Given the description of an element on the screen output the (x, y) to click on. 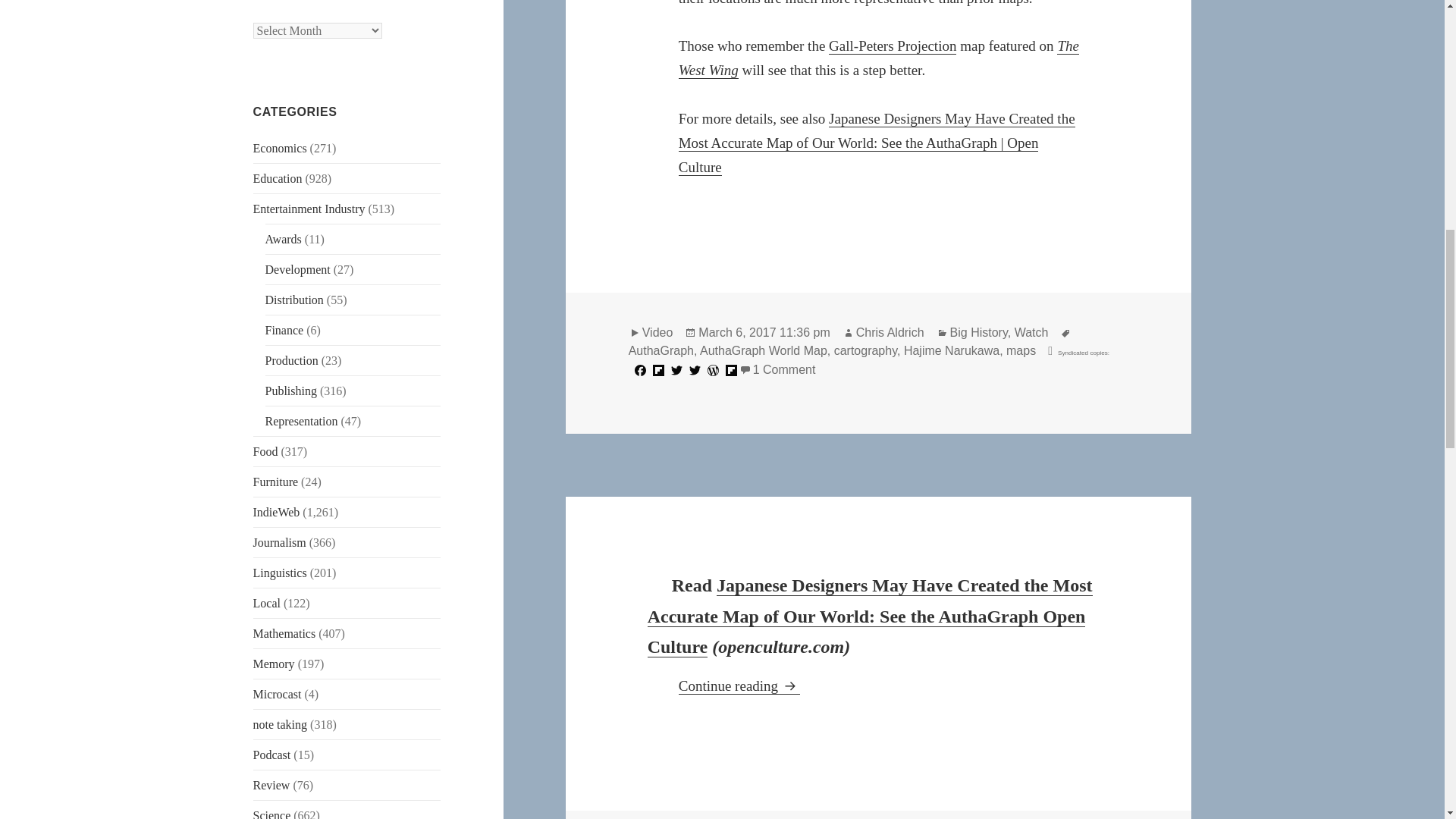
Facebook (640, 369)
WordPress (713, 369)
Flipboard (730, 369)
Twitter (676, 369)
Flipboard (657, 369)
Twitter (694, 369)
